Given the description of an element on the screen output the (x, y) to click on. 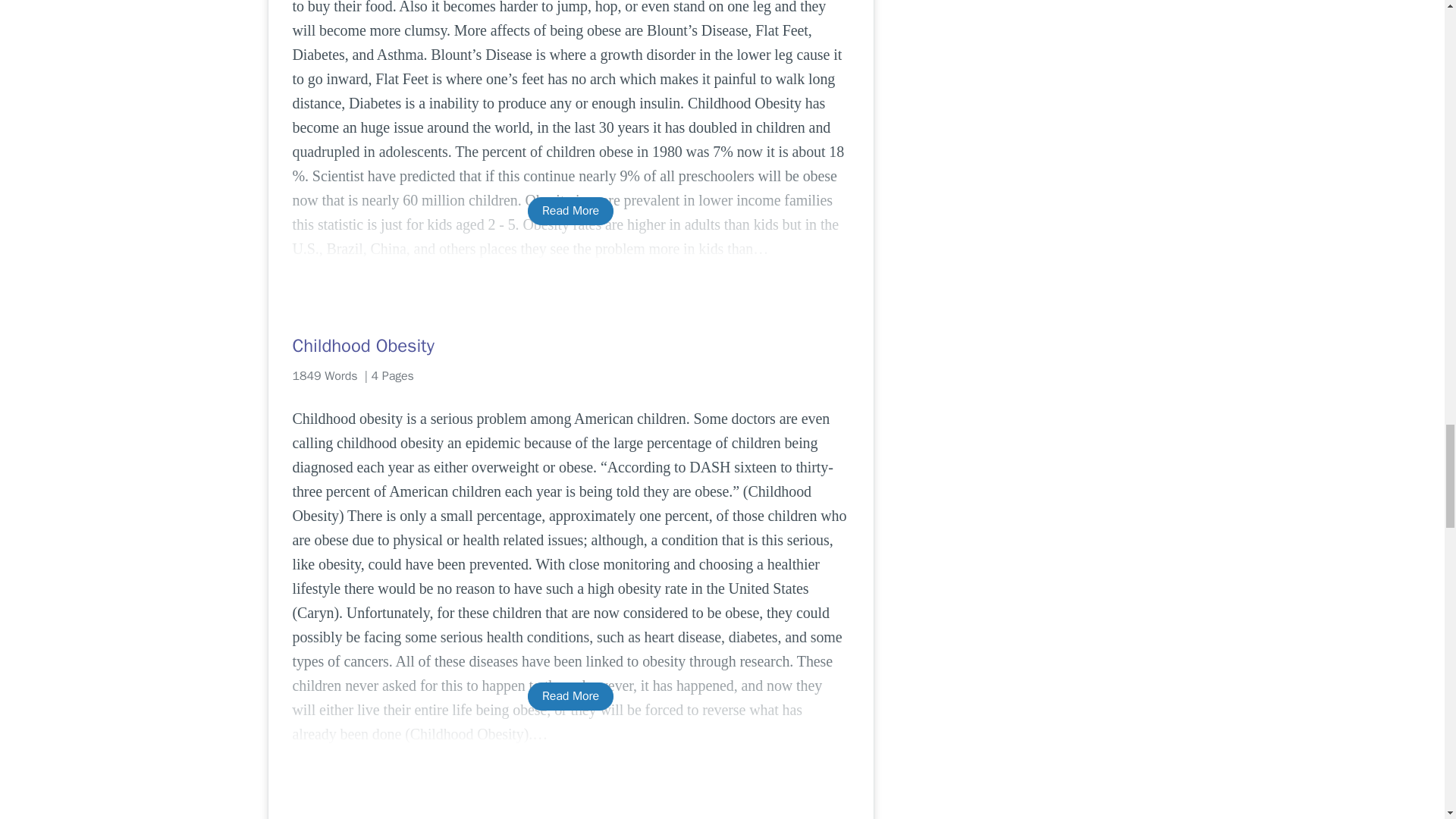
Childhood Obesity (570, 345)
Read More (569, 696)
Read More (569, 211)
